Given the description of an element on the screen output the (x, y) to click on. 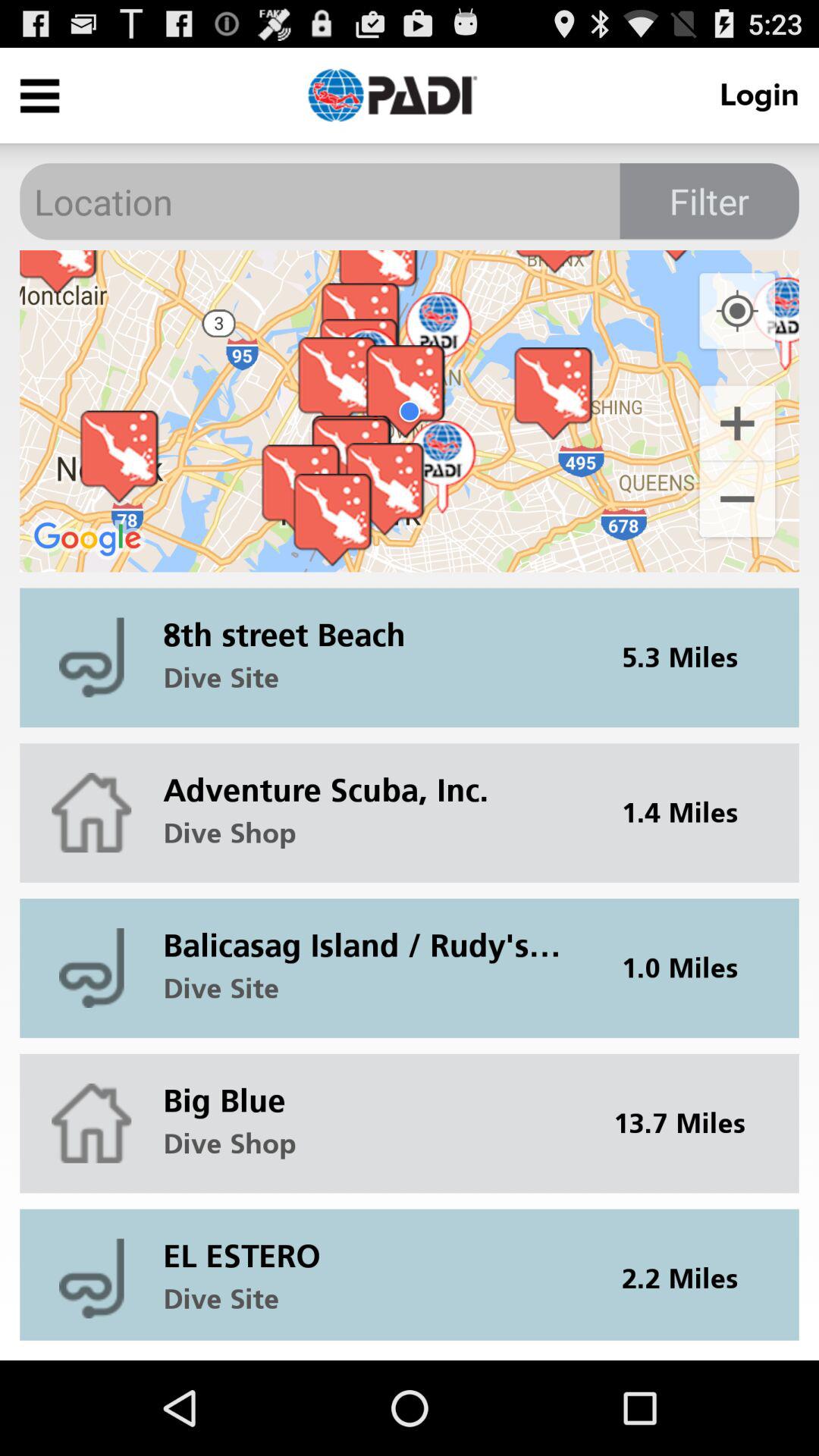
jump until adventure scuba, inc. (371, 778)
